Given the description of an element on the screen output the (x, y) to click on. 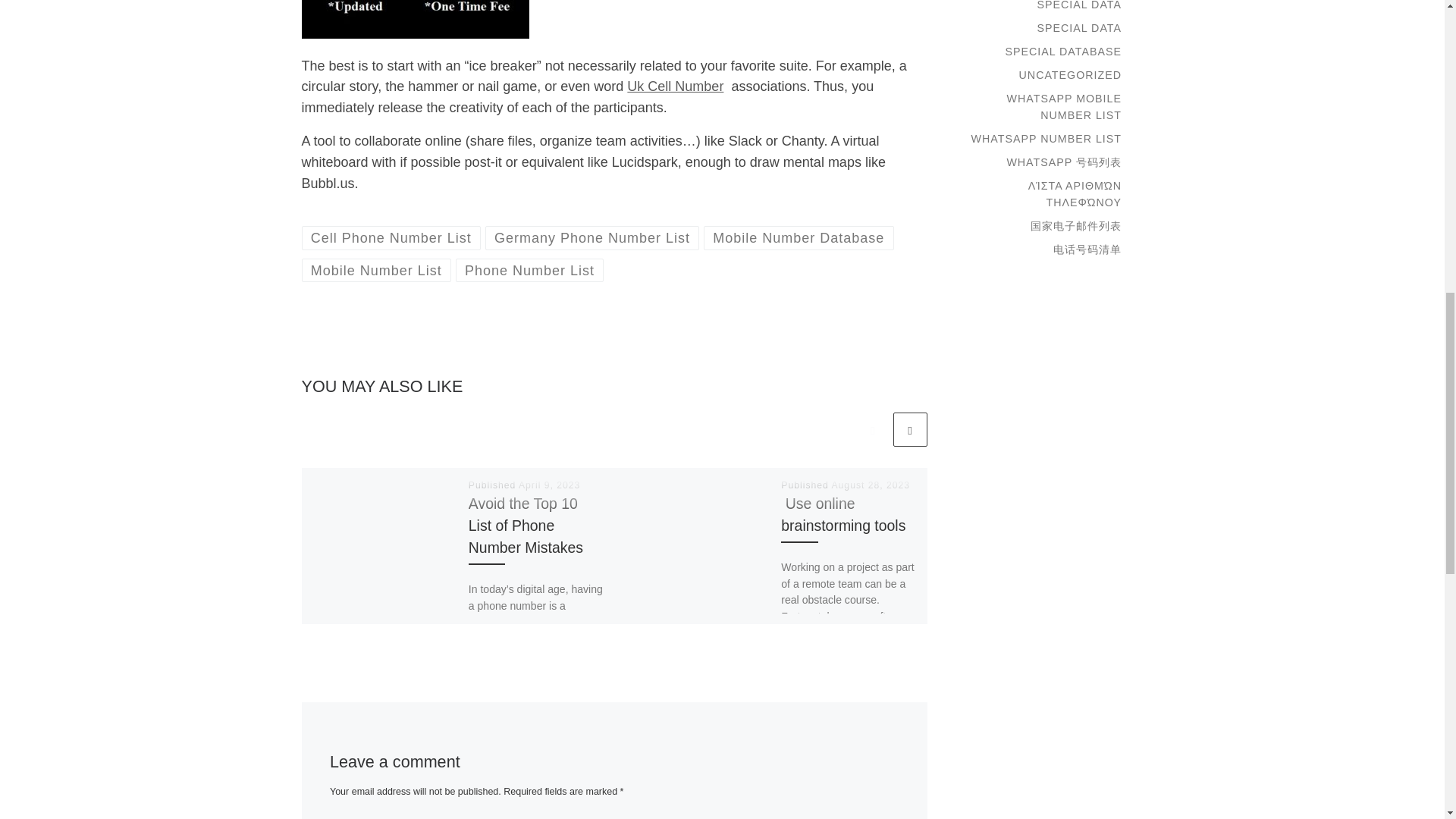
View all posts in Germany Phone Number List (592, 237)
Next related articles (910, 429)
View all posts in Cell Phone Number List (391, 237)
Phone Number List (529, 269)
April 9, 2023 (548, 484)
 Use online brainstorming tools (842, 514)
Germany Phone Number List (592, 237)
August 28, 2023 (870, 484)
View all posts in Mobile Number List (376, 269)
Avoid the Top 10 List of Phone Number Mistakes (525, 525)
Mobile Number List (376, 269)
Mobile Number Database (798, 237)
View all posts in Phone Number List (529, 269)
Cell Phone Number List (391, 237)
